Given the description of an element on the screen output the (x, y) to click on. 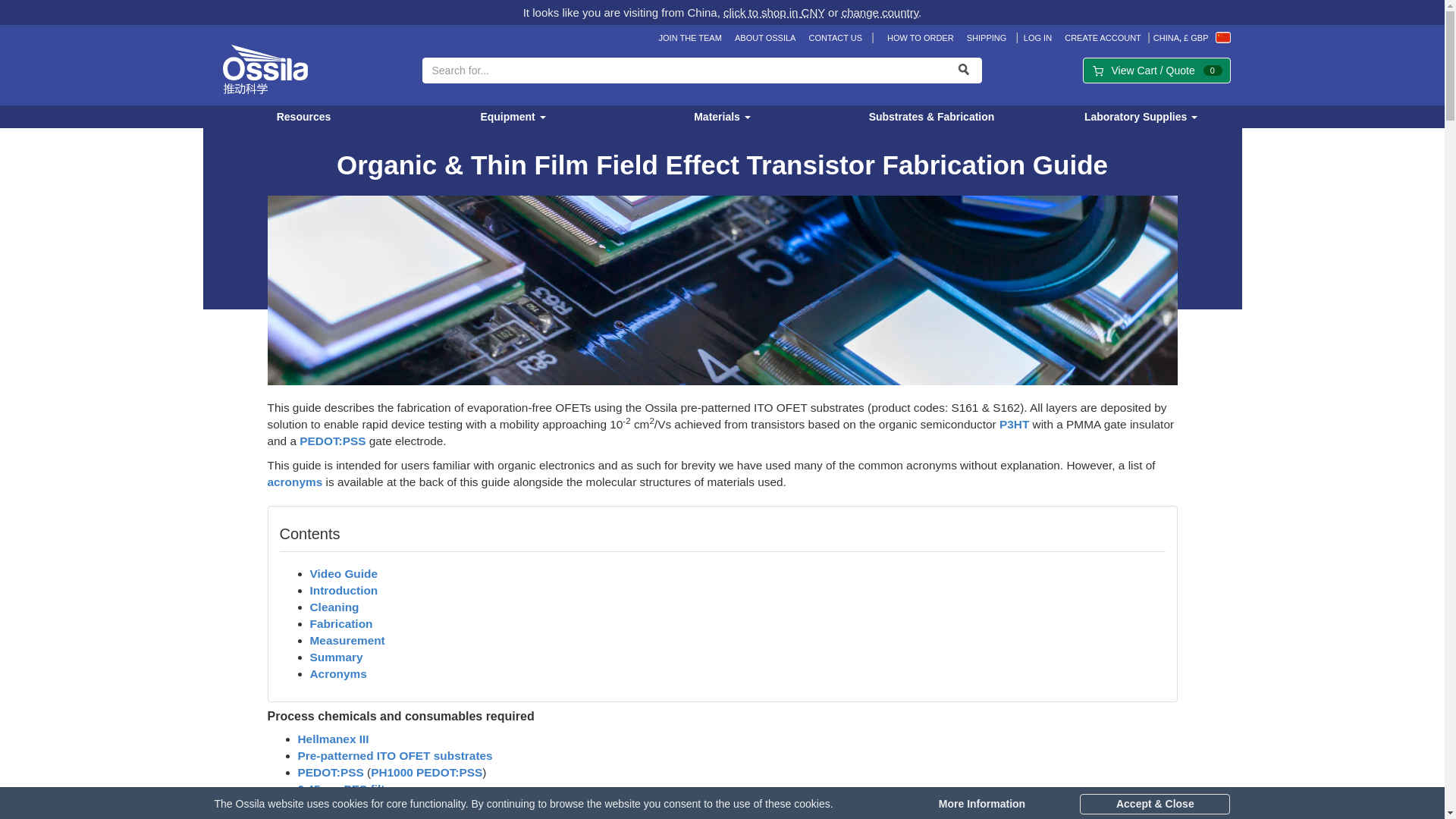
Rubber-free solvent-safe syringes (369, 805)
Cleanroom swabs (382, 817)
PEDOT:PSS (329, 771)
PH 1000 PEDOT:PSS (426, 771)
P3HT (1013, 423)
Hellmanex III (332, 738)
ITO OFET substrates (394, 755)
Change location (1191, 37)
Syringe Filters for PEDOT:PSS (349, 788)
PEDOT:PSS (332, 440)
